Given the description of an element on the screen output the (x, y) to click on. 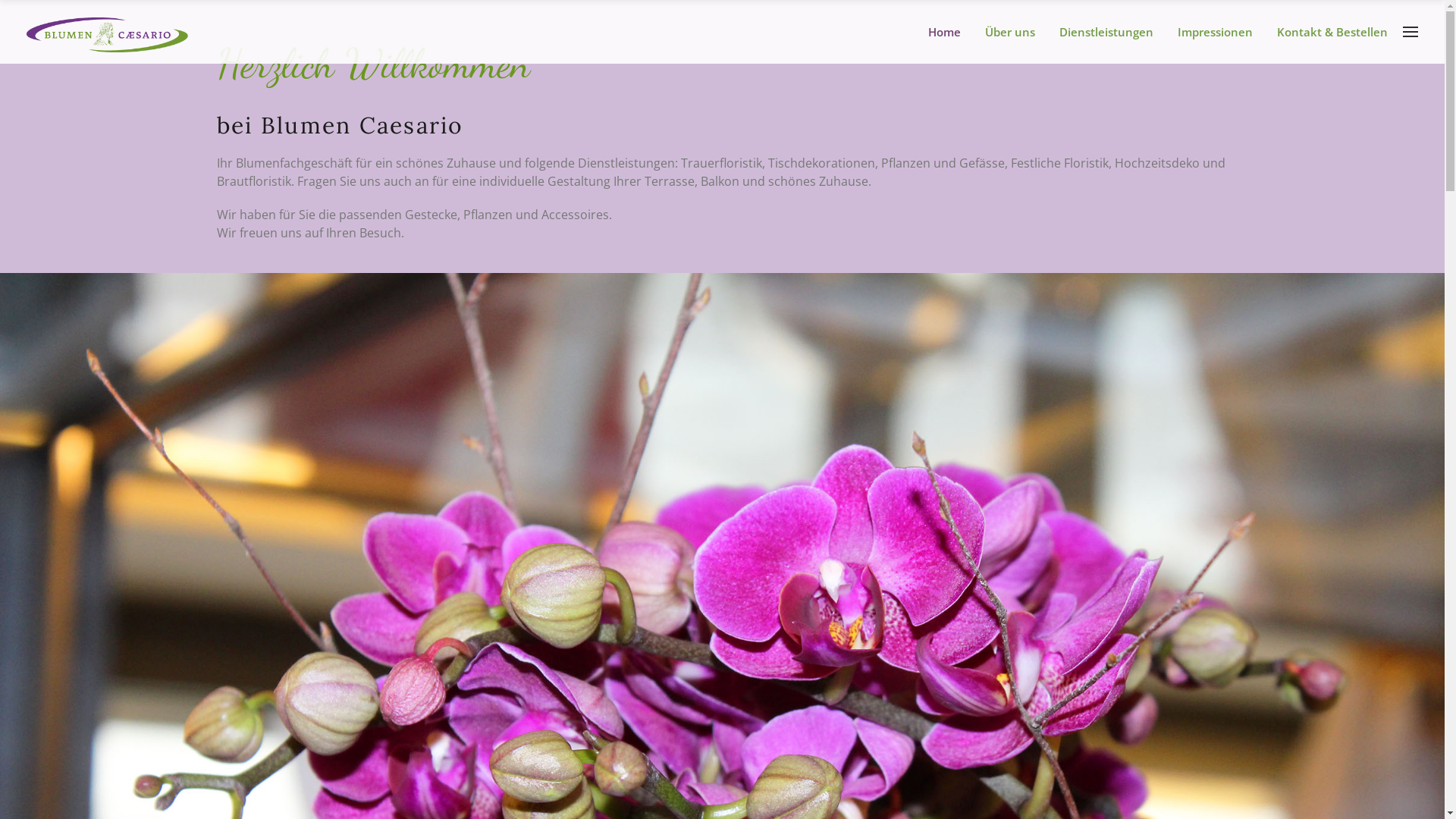
Dienstleistungen Element type: text (1112, 31)
Impressionen Element type: text (1220, 31)
Home Element type: text (950, 31)
Kontakt & Bestellen Element type: text (1337, 31)
